Given the description of an element on the screen output the (x, y) to click on. 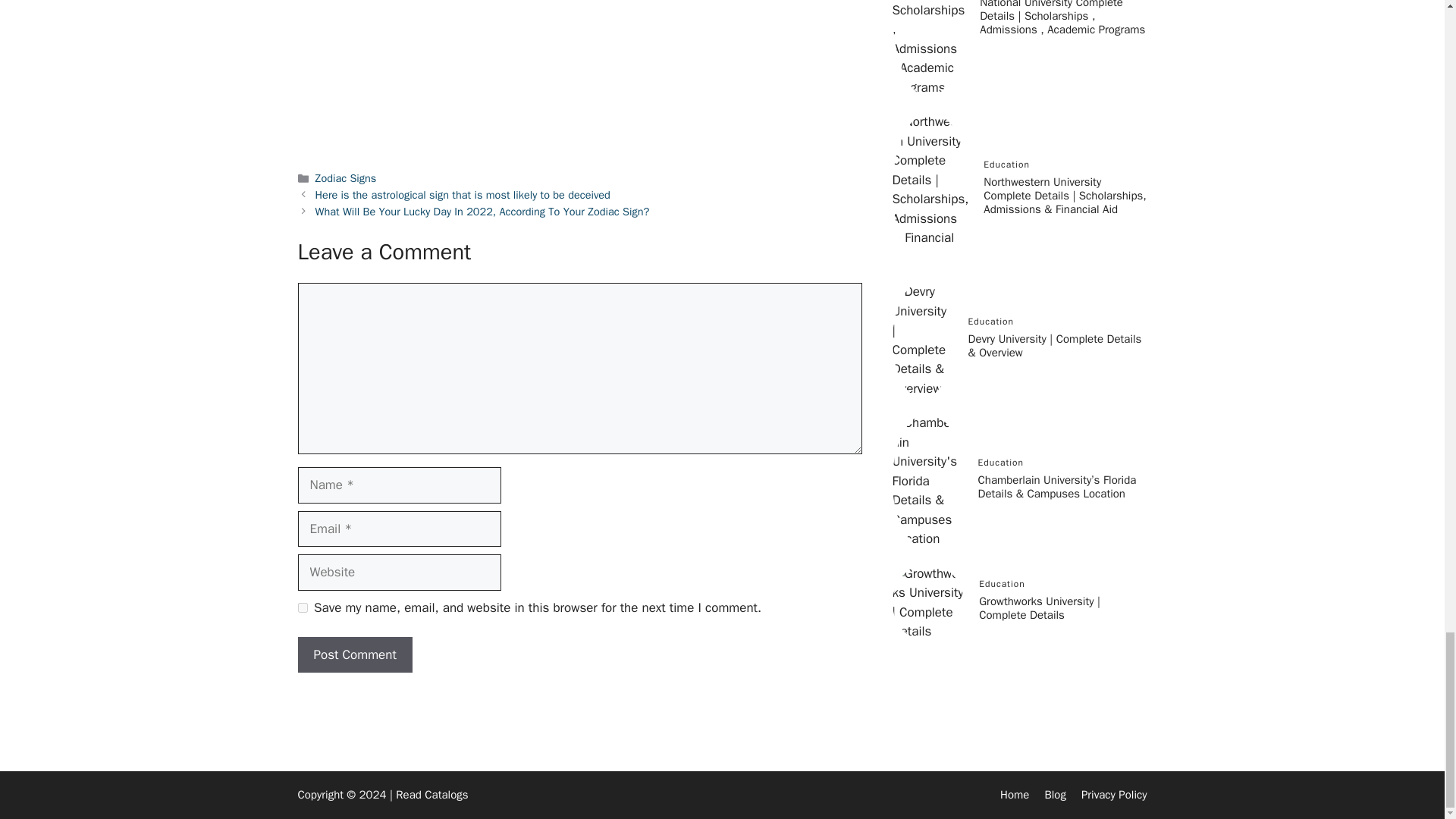
Post Comment (354, 655)
Privacy Policy (1114, 794)
yes (302, 607)
Zodiac Signs (346, 178)
Post Comment (354, 655)
5 ZODIAC SIGNS WHO ARE NOT AFRAID TO EXPRESS THEIR LOVE (579, 74)
Blog (1054, 794)
Home (1014, 794)
